Given the description of an element on the screen output the (x, y) to click on. 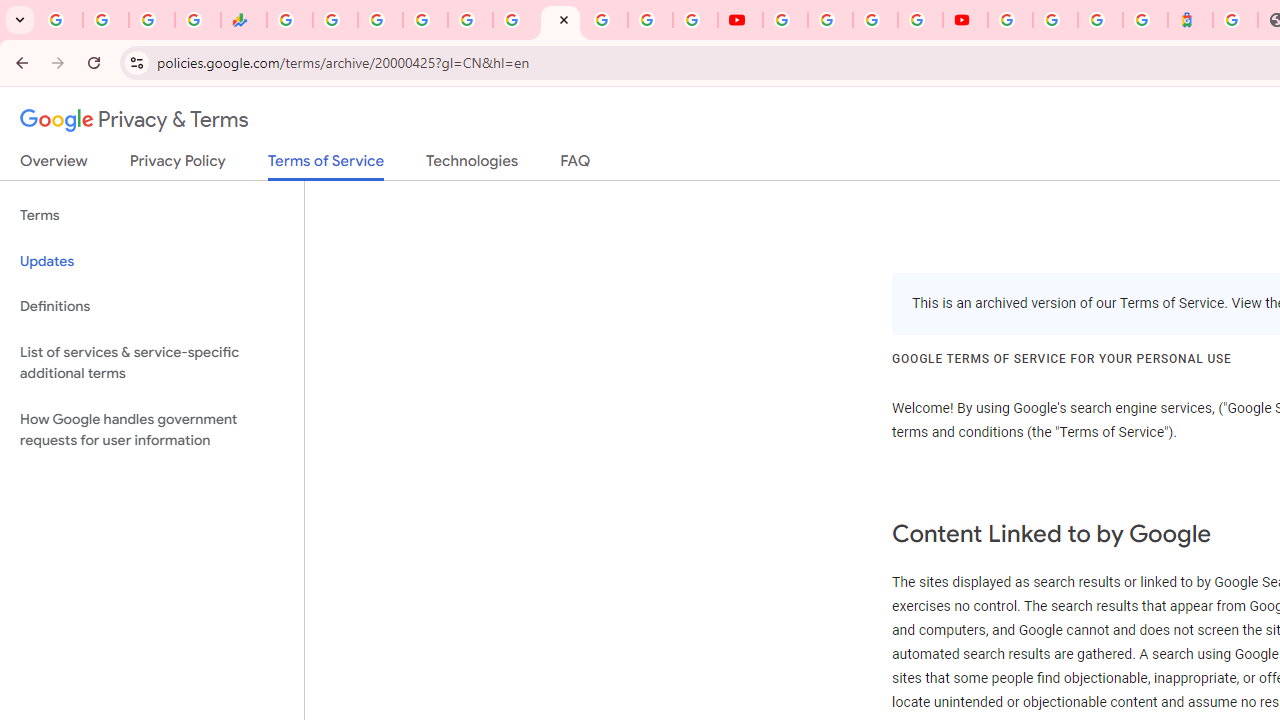
Atour Hotel - Google hotels (1190, 20)
Create your Google Account (875, 20)
Sign in - Google Accounts (425, 20)
